Given the description of an element on the screen output the (x, y) to click on. 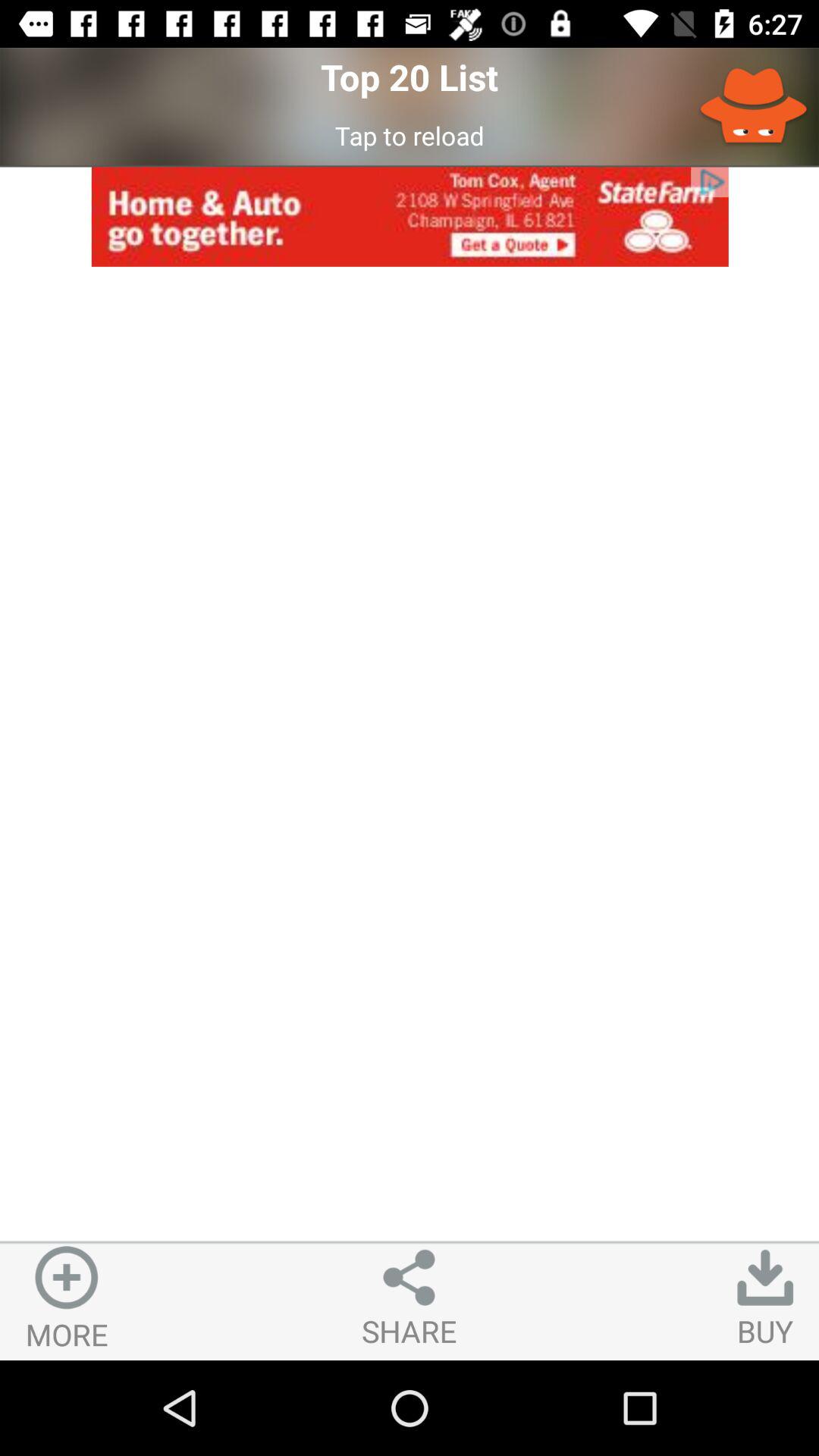
jump until tap to reload (409, 135)
